Given the description of an element on the screen output the (x, y) to click on. 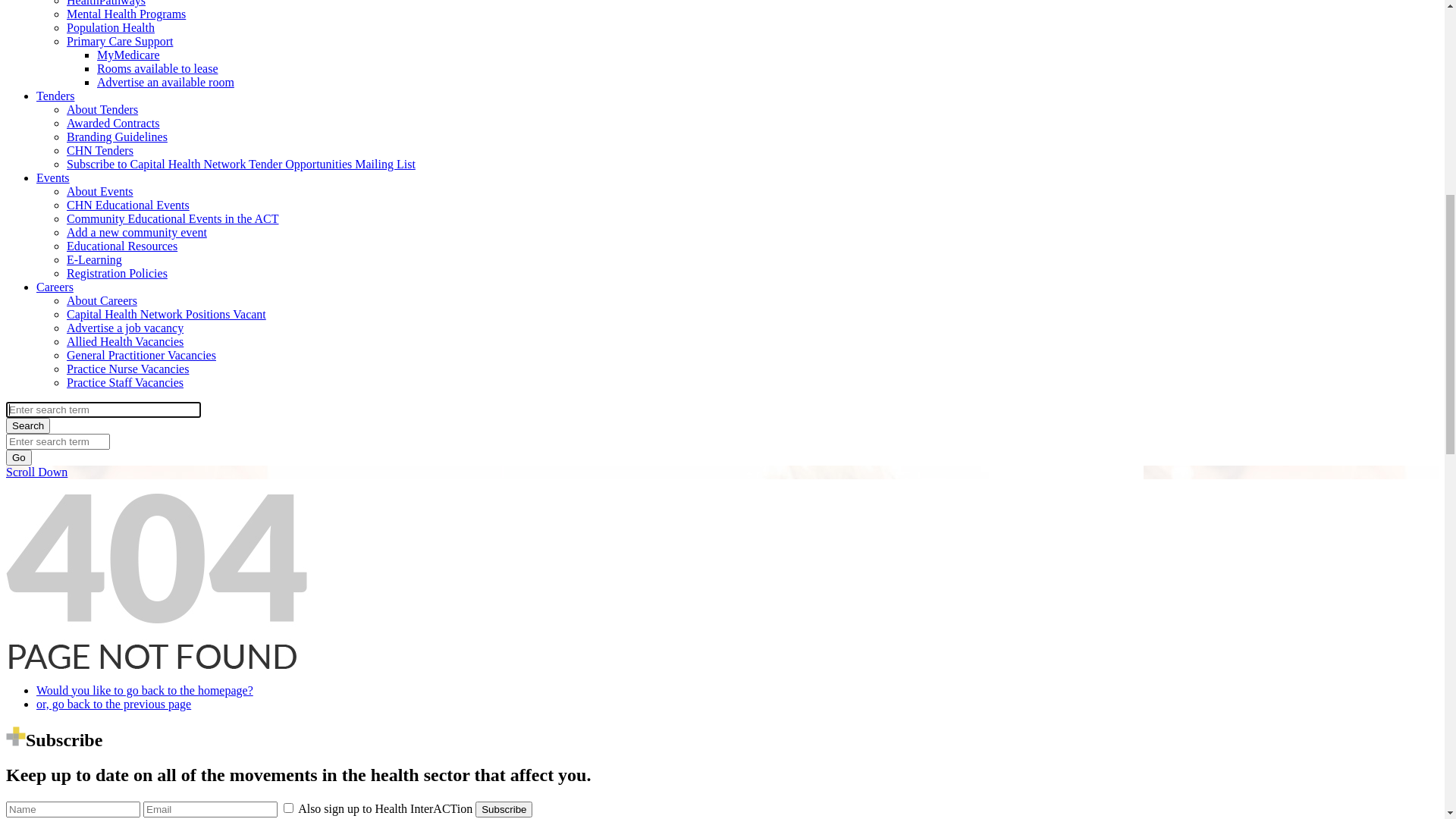
Good News Stories Element type: text (113, 333)
Advertise an available room Element type: text (165, 661)
Aboriginal and Torres Strait Islander Health and Wellbeing Element type: text (209, 401)
Mental Health Programs Element type: text (125, 388)
Branding Guidelines Element type: text (116, 715)
Publications Element type: text (96, 251)
COVID-19 Resources and Information Element type: text (160, 552)
Primary Care Support Element type: text (119, 620)
Aboriginal and Torres Strait Islander Health and Wellbeing Element type: text (209, 538)
Advance Care Planning Element type: text (124, 429)
Dementia Care Element type: text (102, 442)
CHN Educational Events Element type: text (127, 784)
Our Board Element type: text (92, 197)
Community Educational Events in the ACT Element type: text (172, 797)
Cultural Competency Framework Element type: text (147, 279)
Media Releases Element type: text (104, 347)
Search CHN Element type: hover (44, 157)
Tenders Element type: text (55, 674)
Mental Health Programs Element type: text (125, 592)
Contact Us Element type: text (93, 306)
About Tenders Element type: text (102, 688)
Rooms available to lease Element type: text (157, 647)
Awarded Contracts Element type: text (113, 702)
Privacy Policy Element type: text (102, 292)
For Consumers Element type: text (73, 374)
News Element type: text (49, 319)
Population Health Element type: text (110, 606)
Add a new community event Element type: text (136, 811)
HealthPathways Element type: text (105, 579)
Pharmacists in Residential Aged Care Facilities trial Element type: text (223, 497)
Our Board Committees Element type: text (122, 210)
Our Team Element type: text (90, 224)
About Us Element type: text (59, 183)
Newsletters Element type: text (95, 360)
Digital Health Element type: text (100, 456)
Alcohol and Other Drug Programs Element type: text (150, 415)
Digital Health Element type: text (100, 565)
Skip to content Element type: text (42, 18)
For Health Professionals Element type: text (96, 524)
Activity Work Plans and Needs Assessments Element type: text (174, 238)
About Events Element type: text (99, 770)
Older Persons Health Element type: text (118, 470)
Events Element type: text (52, 756)
Social Workers in General Practice Element type: text (181, 511)
Membership Element type: text (97, 265)
CHN Tenders Element type: text (99, 729)
Trials Element type: text (80, 483)
MyMedicare Element type: text (128, 633)
